Given the description of an element on the screen output the (x, y) to click on. 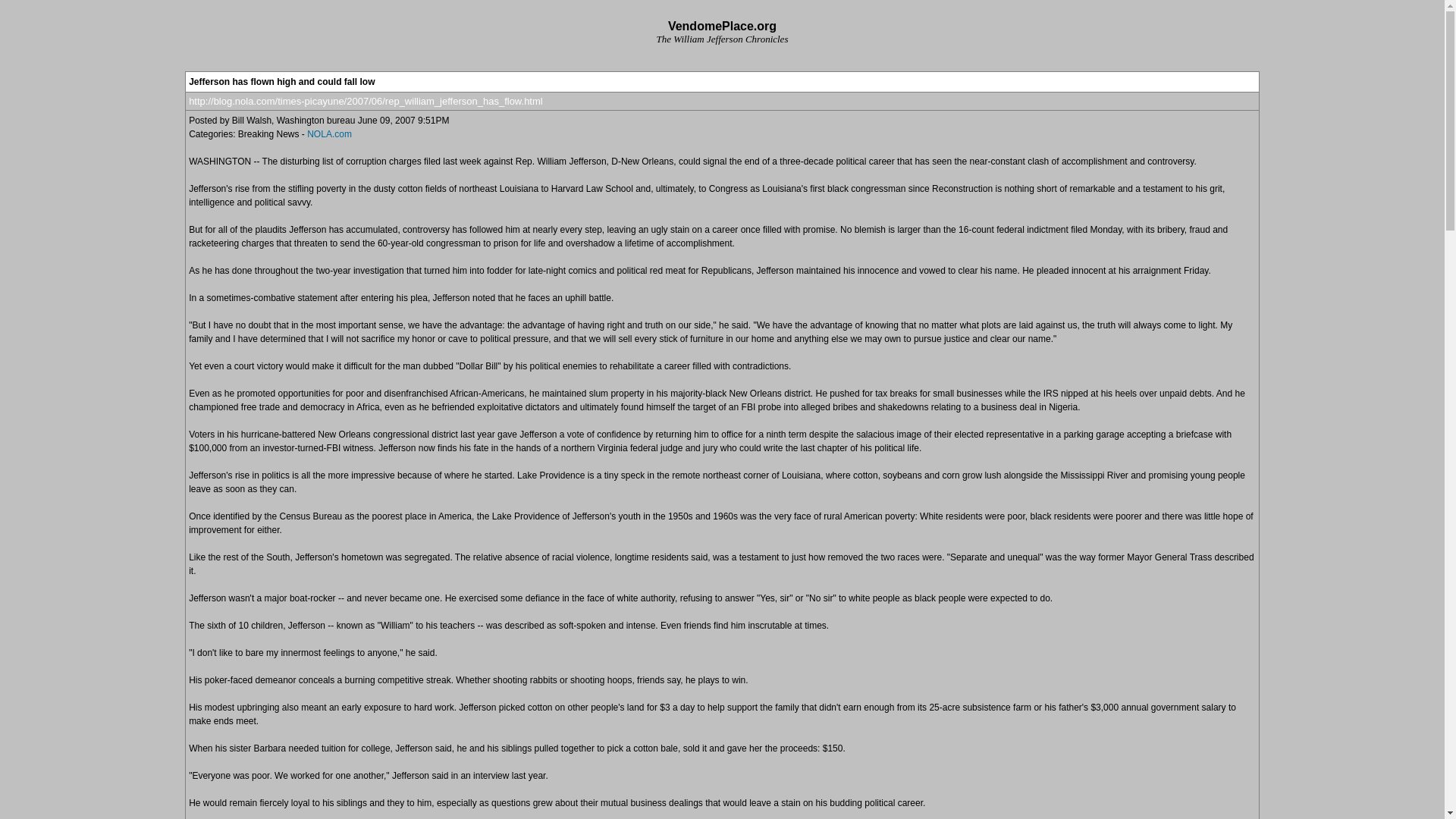
NOLA.com (329, 133)
